Given the description of an element on the screen output the (x, y) to click on. 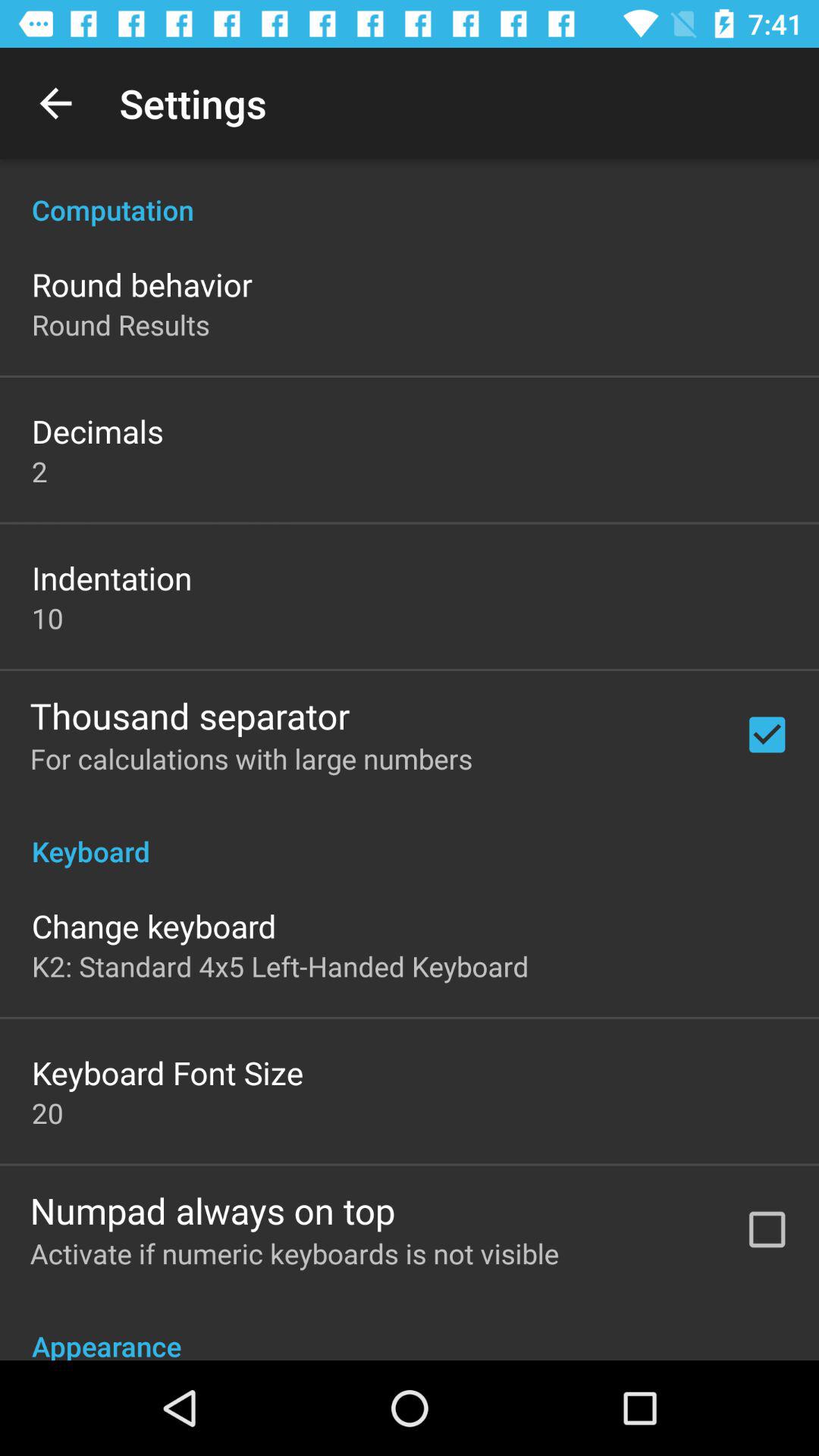
jump until the numpad always on (212, 1210)
